Given the description of an element on the screen output the (x, y) to click on. 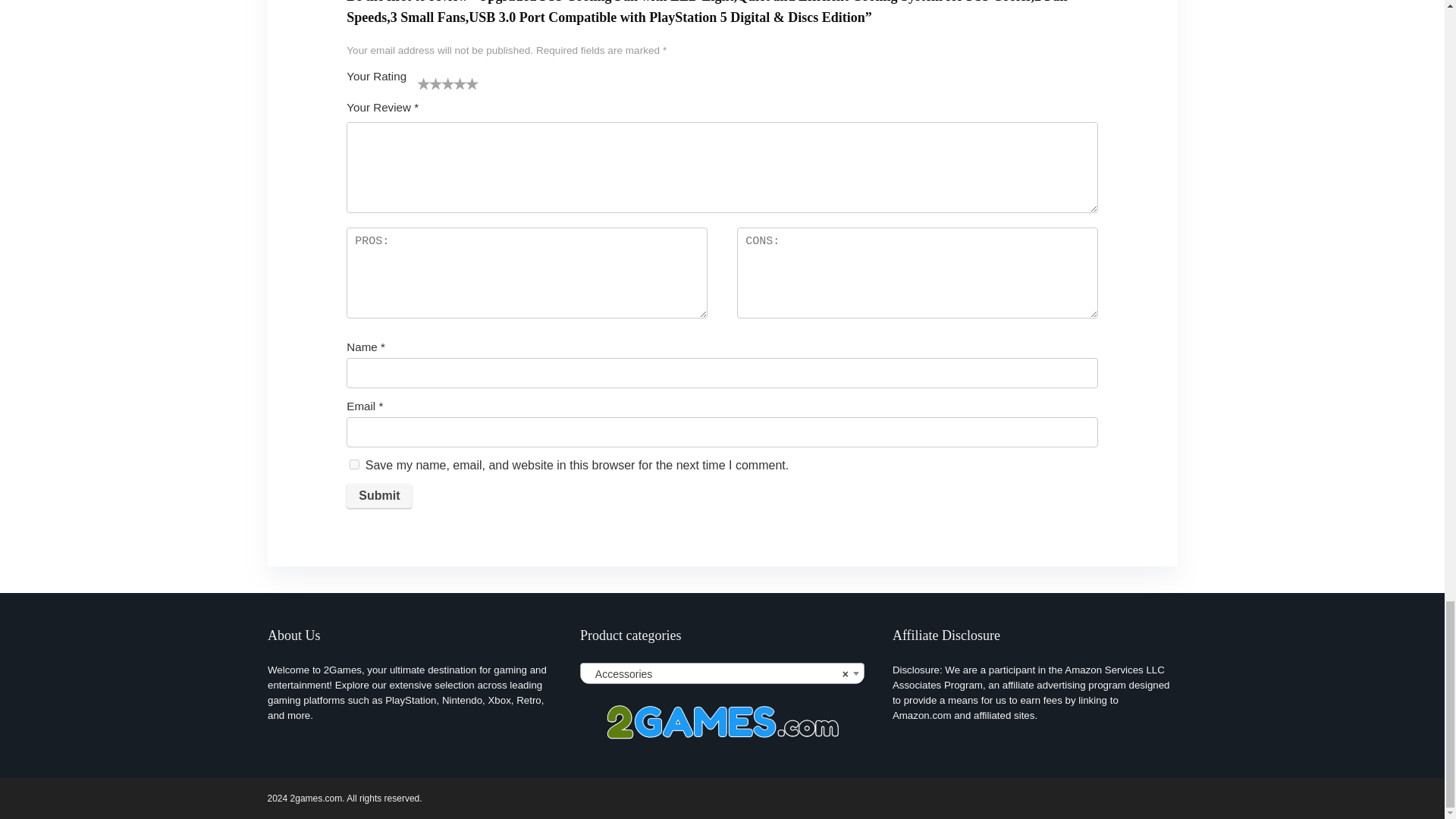
yes (354, 464)
Submit (379, 495)
